Given the description of an element on the screen output the (x, y) to click on. 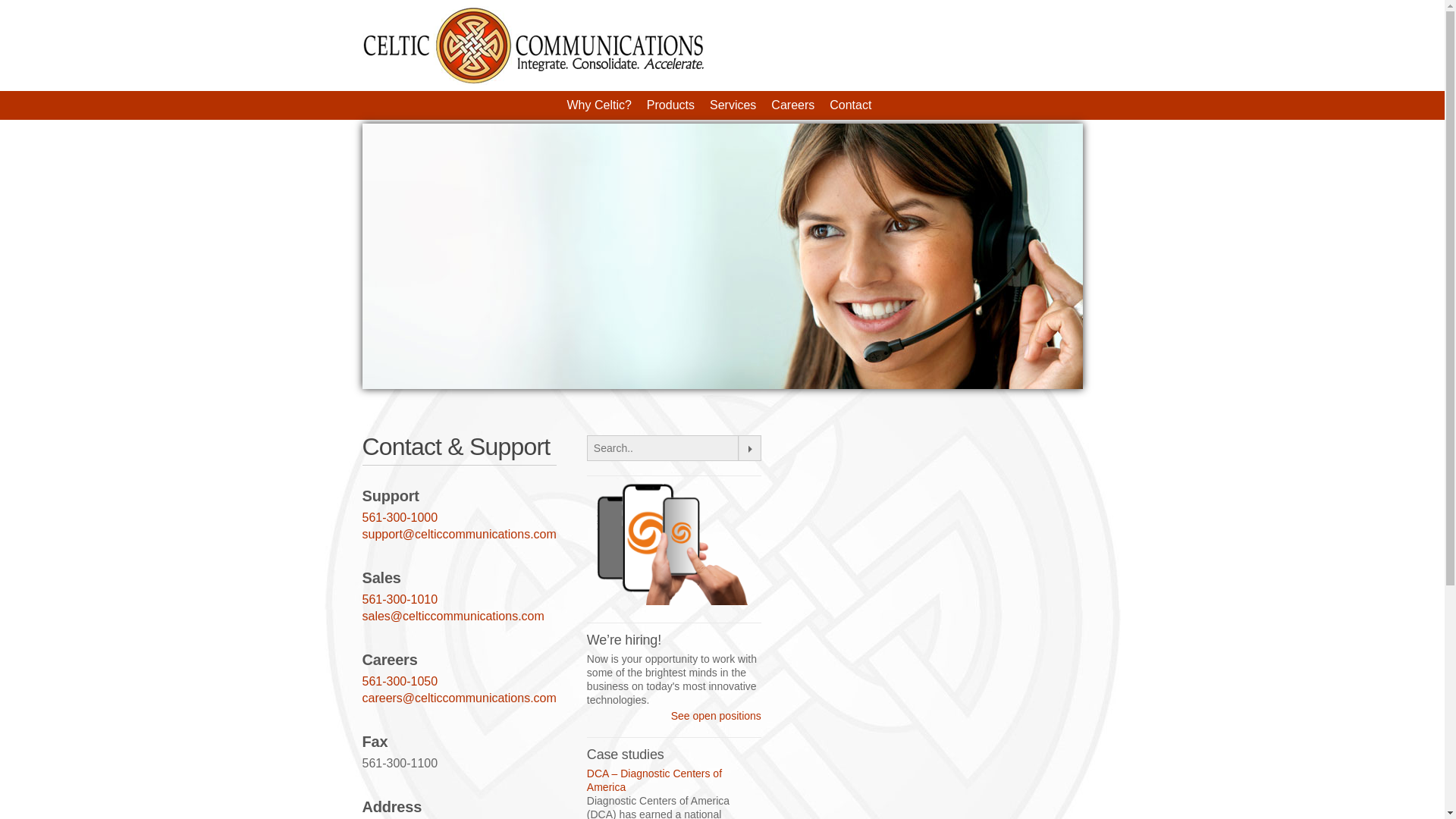
561-300-1010 (400, 599)
Services (732, 104)
Careers (792, 104)
Why Celtic? (599, 104)
Celtic Communications (532, 80)
561-300-1000 (400, 517)
Contact (849, 104)
561-300-1050 (400, 680)
Products (670, 104)
See open positions (716, 715)
